Given the description of an element on the screen output the (x, y) to click on. 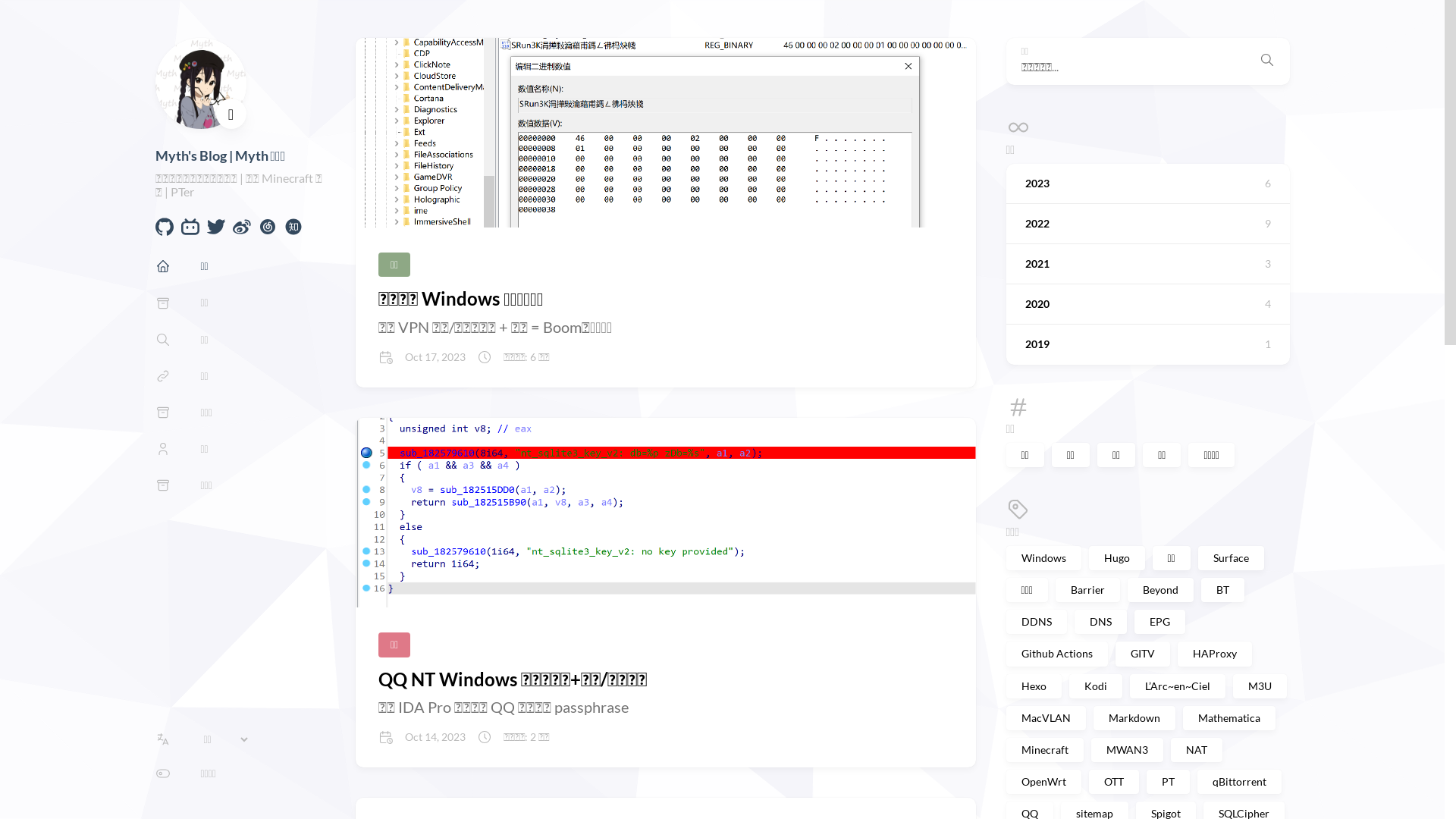
Windows Element type: text (1042, 558)
OTT Element type: text (1113, 781)
Hexo Element type: text (1032, 686)
Surface Element type: text (1231, 558)
PT Element type: text (1167, 781)
GITV Element type: text (1141, 653)
4-Weibo Element type: hover (241, 230)
Minecraft Element type: text (1043, 749)
2023
6 Element type: text (1147, 183)
HAProxy Element type: text (1213, 653)
DNS Element type: text (1099, 621)
Mathematica Element type: text (1229, 718)
Barrier Element type: text (1087, 589)
MacVLAN Element type: text (1045, 718)
6-Zhihu Element type: hover (292, 230)
DDNS Element type: text (1035, 621)
NAT Element type: text (1196, 749)
1-GitHub Element type: hover (163, 230)
MWAN3 Element type: text (1126, 749)
M3U Element type: text (1259, 686)
BT Element type: text (1222, 589)
Bilibili icon Element type: text (189, 230)
5-Netease Cloud Music Element type: hover (266, 230)
Beyond Element type: text (1160, 589)
Markdown Element type: text (1134, 718)
qBittorrent Element type: text (1238, 781)
2021
3 Element type: text (1147, 263)
OpenWrt Element type: text (1042, 781)
3-Twitter Element type: hover (215, 230)
2019
1 Element type: text (1147, 344)
Github Actions Element type: text (1056, 653)
Hugo Element type: text (1116, 558)
2022
9 Element type: text (1147, 223)
2020
4 Element type: text (1147, 303)
Kodi Element type: text (1095, 686)
EPG Element type: text (1159, 621)
